Given the description of an element on the screen output the (x, y) to click on. 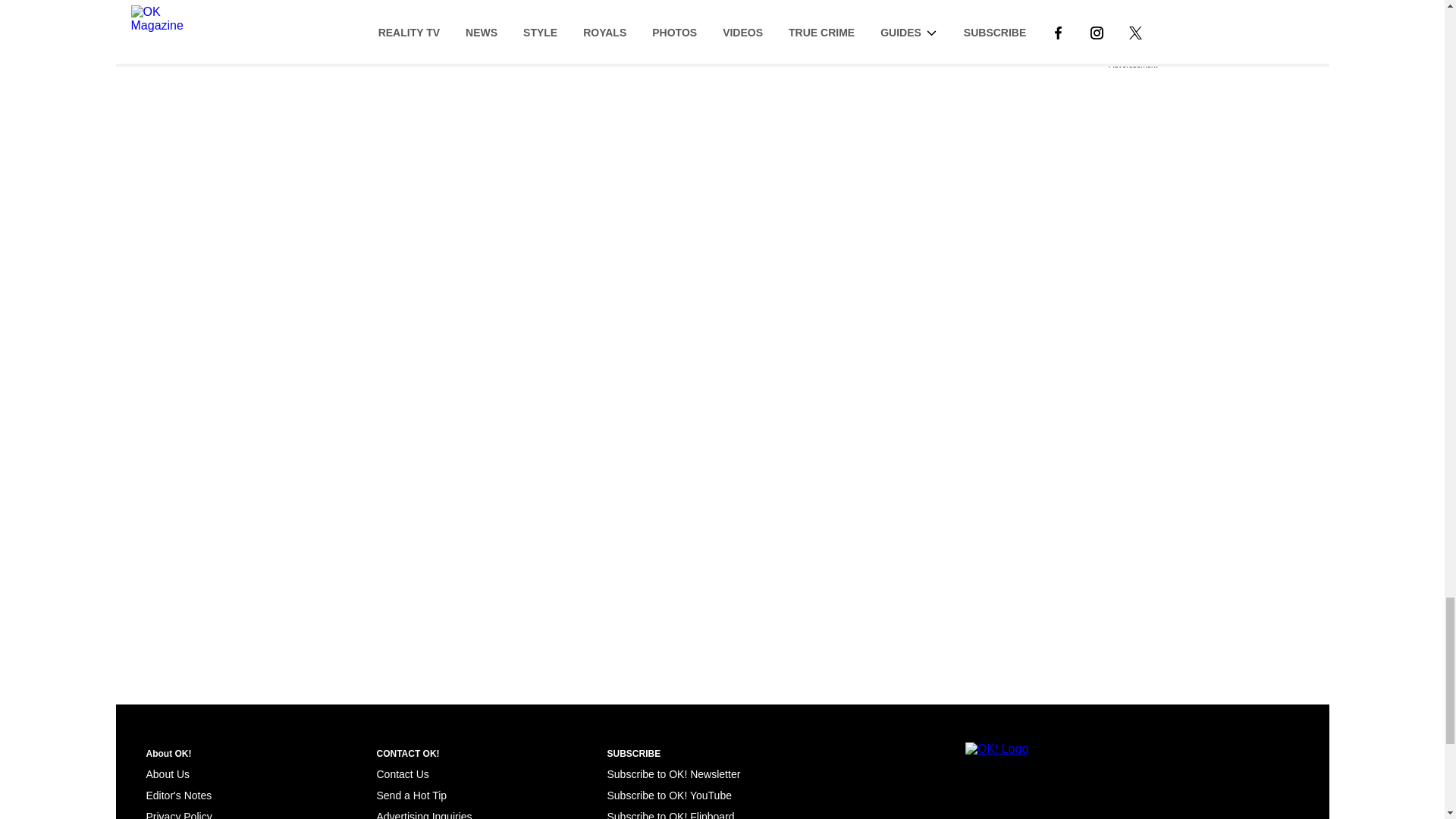
Send a Hot Tip (410, 795)
About Us (167, 774)
Contact Us (401, 774)
Privacy Policy (178, 814)
Editor's Notes (178, 795)
